Given the description of an element on the screen output the (x, y) to click on. 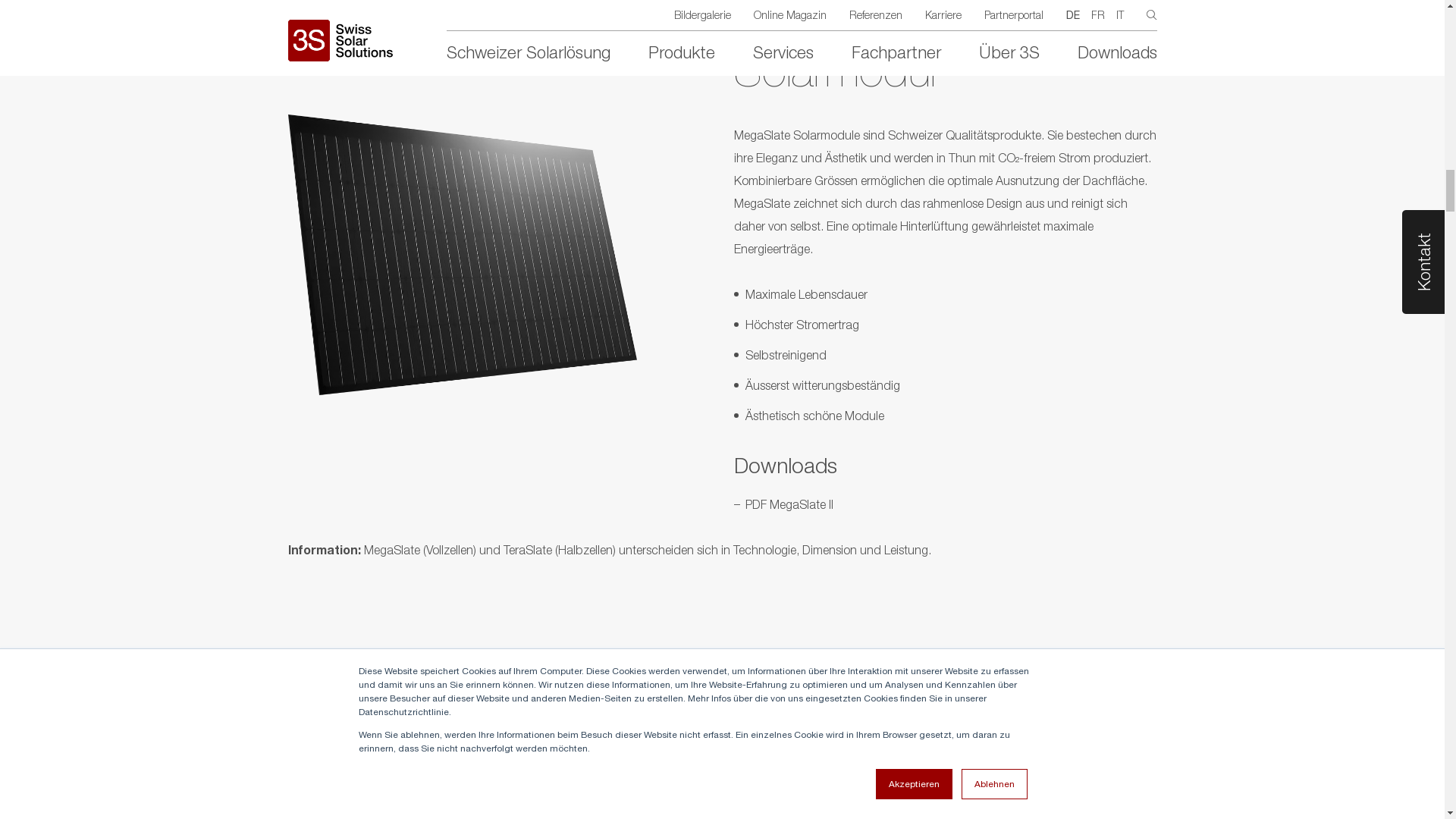
Swiss Made Element type: text (331, 559)
TeraSlate Element type: text (1030, 745)
MegaSlate II Element type: text (1030, 779)
Das Dach, das sich selbst finanziert Element type: text (722, 559)
seit 2001 Element type: text (1123, 559)
